Given the description of an element on the screen output the (x, y) to click on. 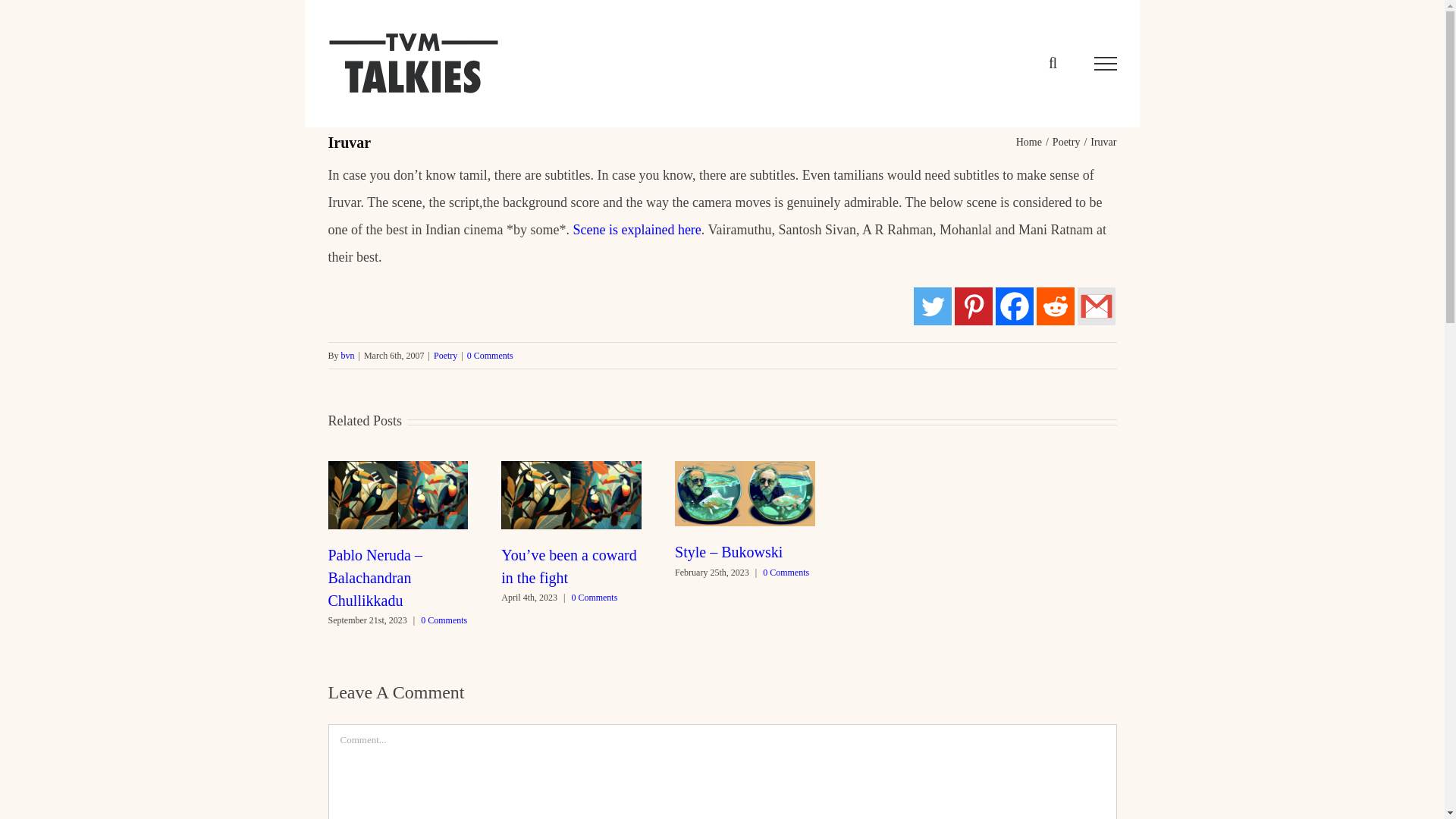
Facebook (1013, 306)
Poetry (445, 355)
0 Comments (490, 355)
0 Comments (443, 620)
Pinterest (972, 306)
Posts by bvn (347, 355)
bvn (347, 355)
Poetry (1066, 142)
Scene is explained here (636, 229)
Google Gmail (1096, 306)
0 Comments (593, 597)
0 Comments (785, 572)
Home (1029, 142)
Reddit (1054, 306)
Twitter (931, 306)
